Given the description of an element on the screen output the (x, y) to click on. 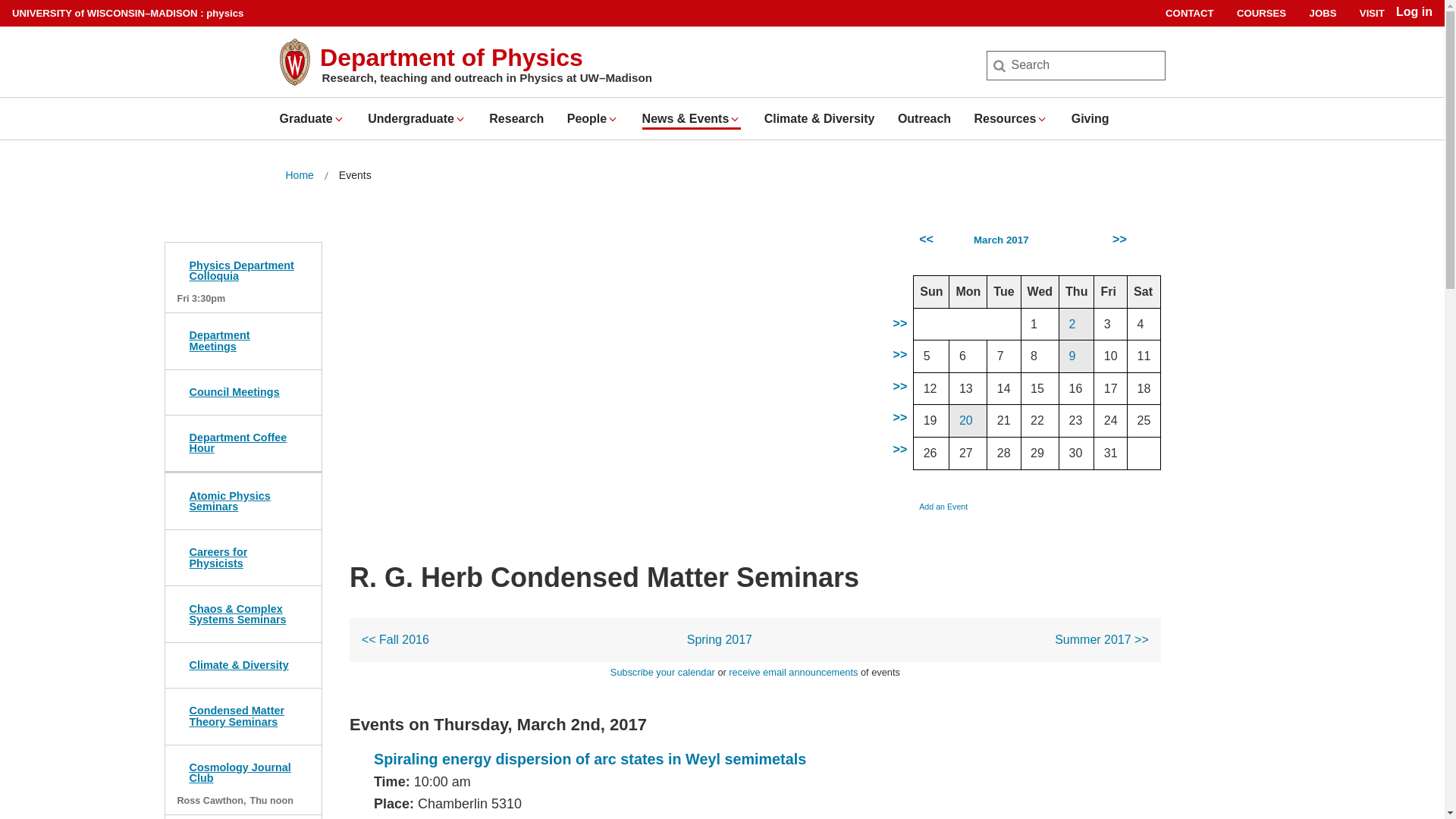
physics (224, 12)
Expand (612, 119)
Search (37, 16)
Undergraduate Expand (416, 118)
Research (516, 118)
Skip to main content (3, 3)
Graduate Expand (311, 118)
Department of Physics (451, 57)
Expand (735, 119)
Events (355, 175)
Home (299, 175)
Expand (339, 119)
People Expand (592, 118)
Expand (459, 119)
Expand (1041, 119)
